Given the description of an element on the screen output the (x, y) to click on. 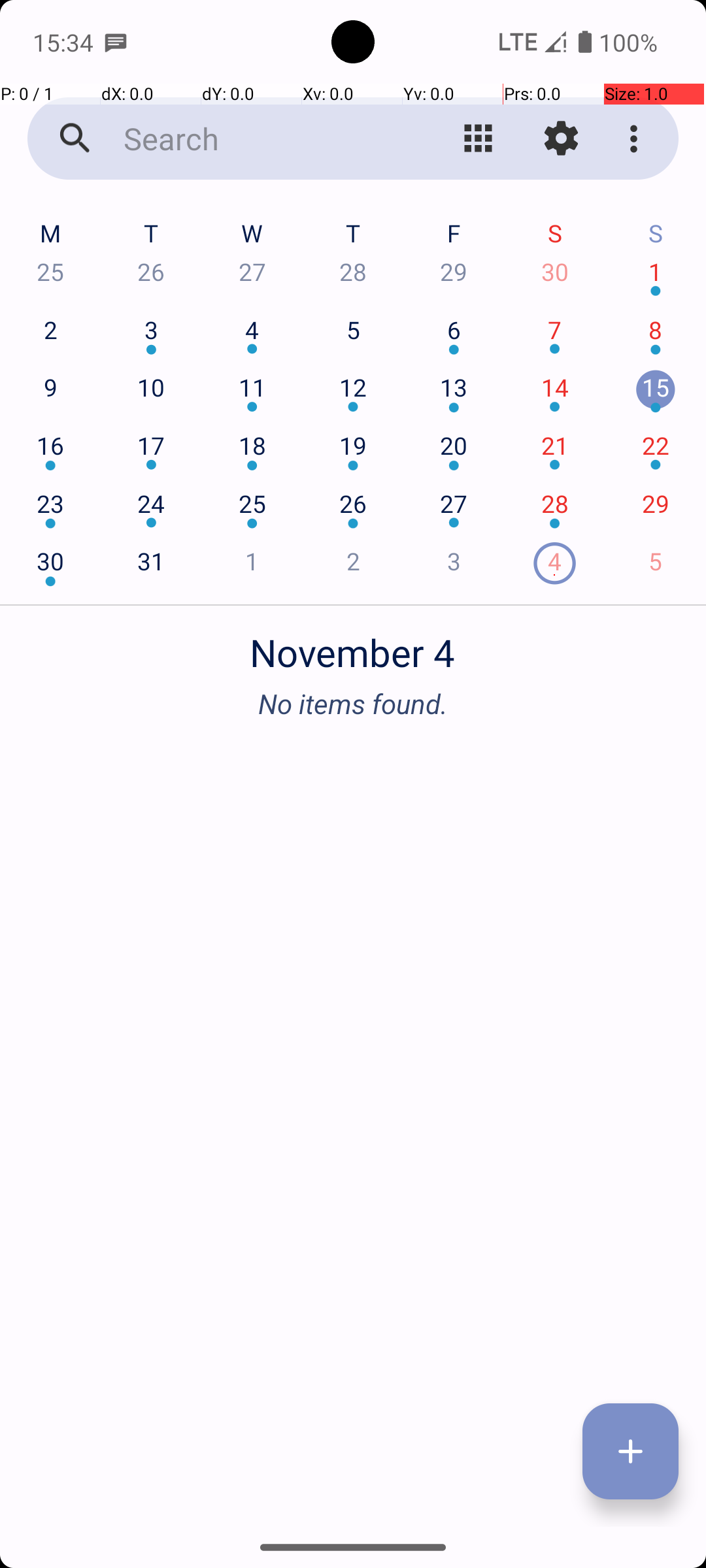
November 4 Element type: android.widget.TextView (352, 644)
